Given the description of an element on the screen output the (x, y) to click on. 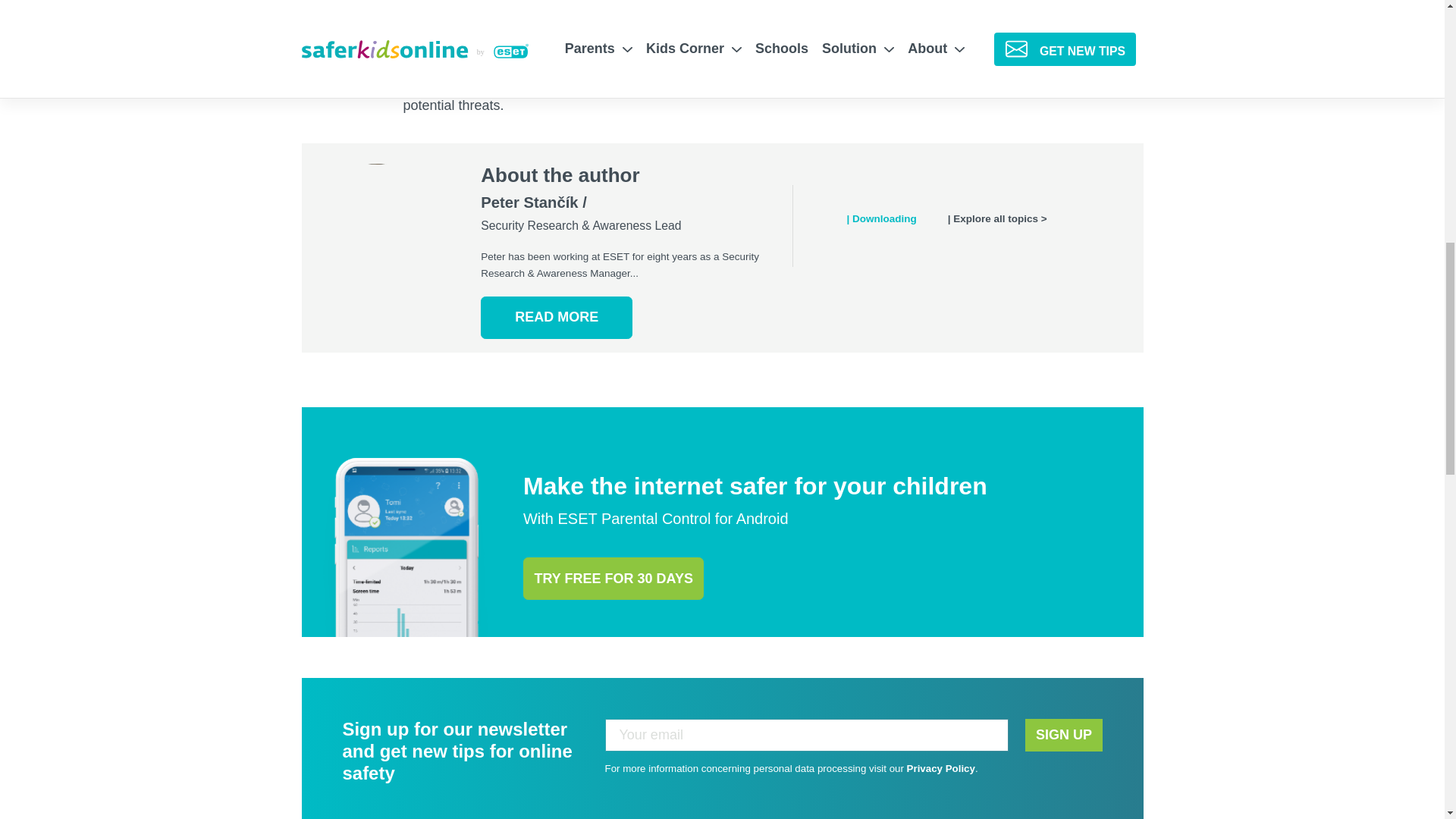
READ MORE (555, 317)
Read more (555, 317)
Sign up (1063, 735)
Privacy Policy (941, 767)
